Given the description of an element on the screen output the (x, y) to click on. 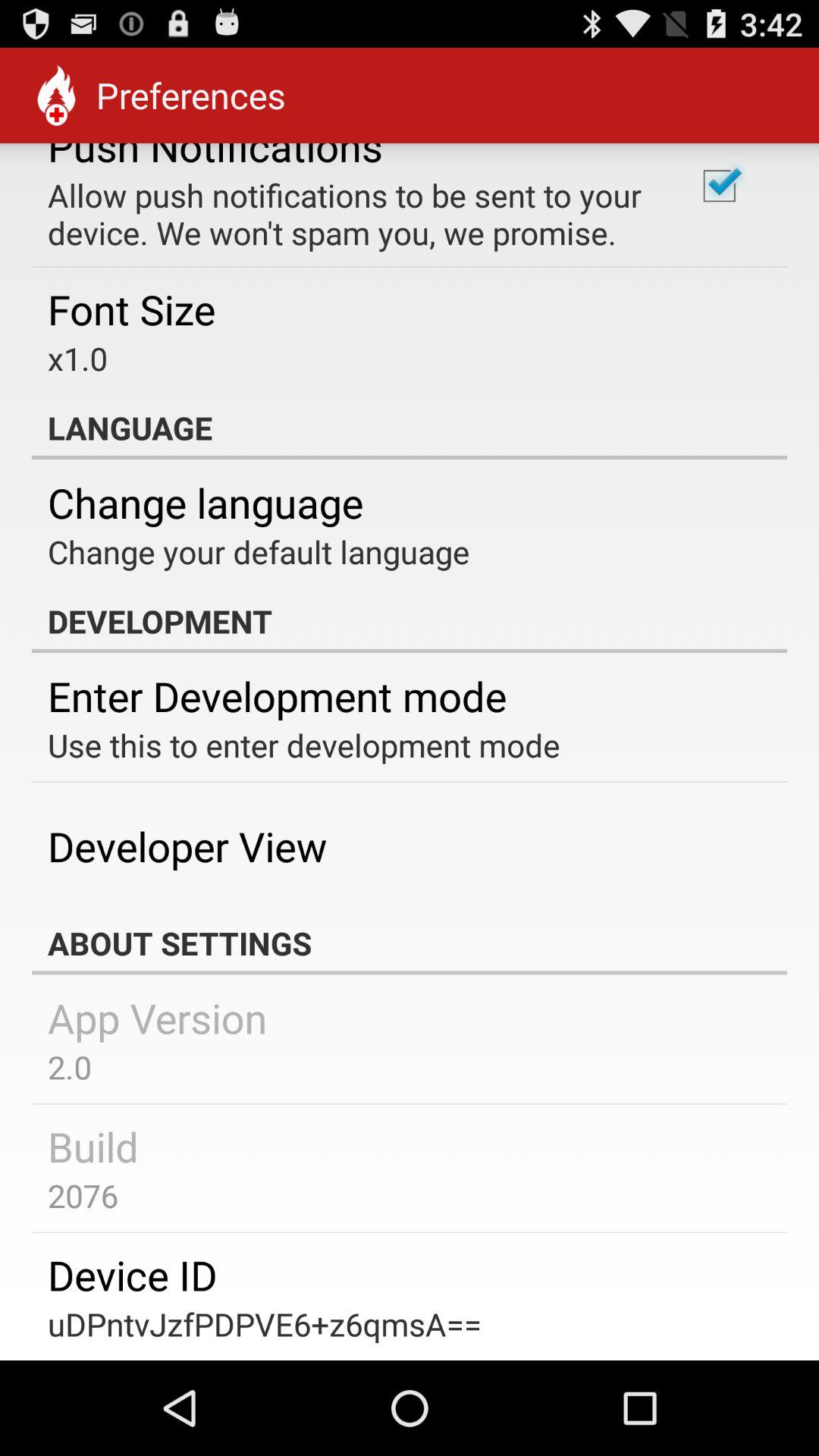
turn on item below the change language app (258, 551)
